Given the description of an element on the screen output the (x, y) to click on. 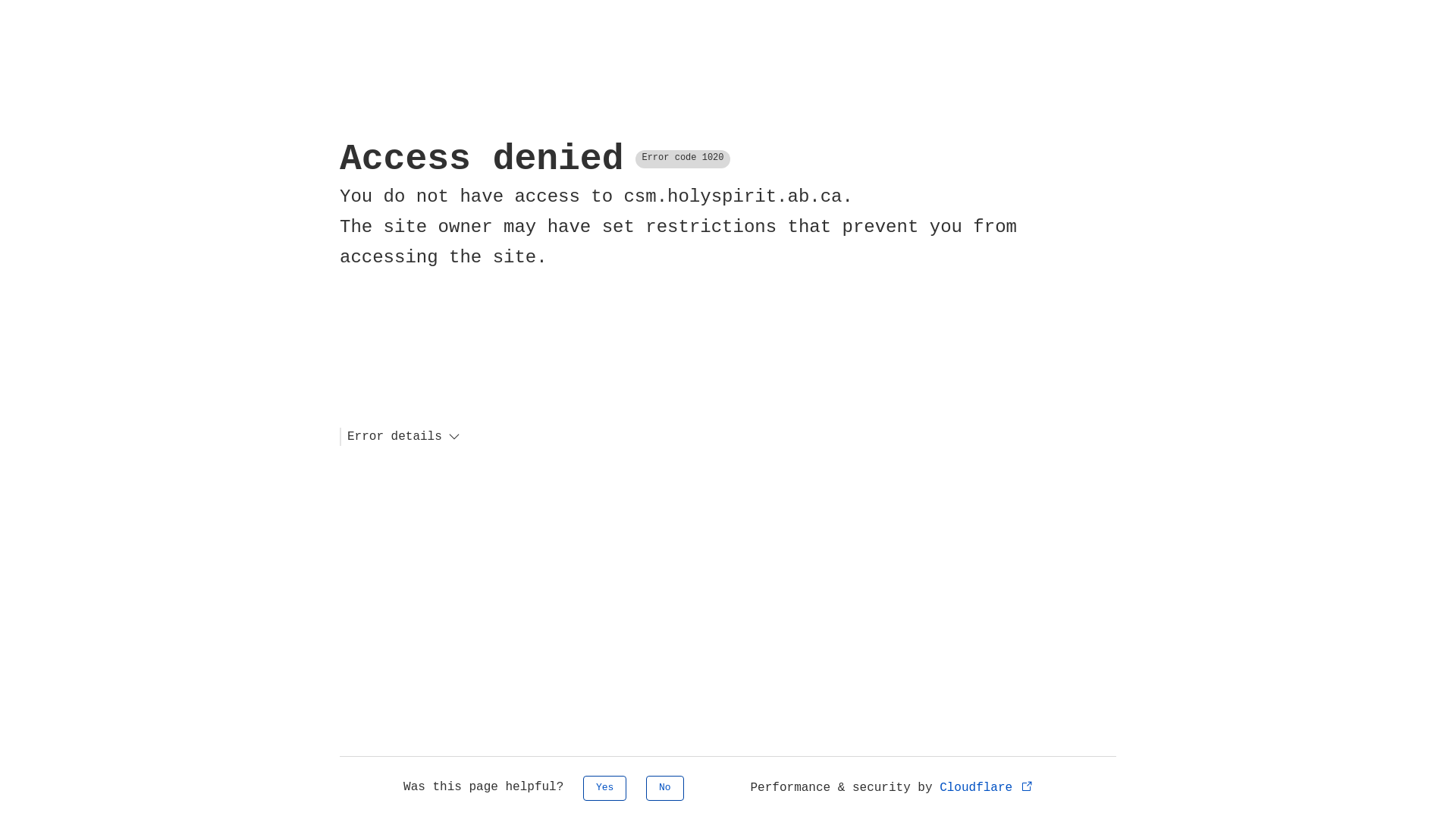
Yes Element type: text (604, 787)
Cloudflare Element type: text (986, 787)
No Element type: text (665, 787)
Opens in new tab Element type: hover (1027, 785)
